Given the description of an element on the screen output the (x, y) to click on. 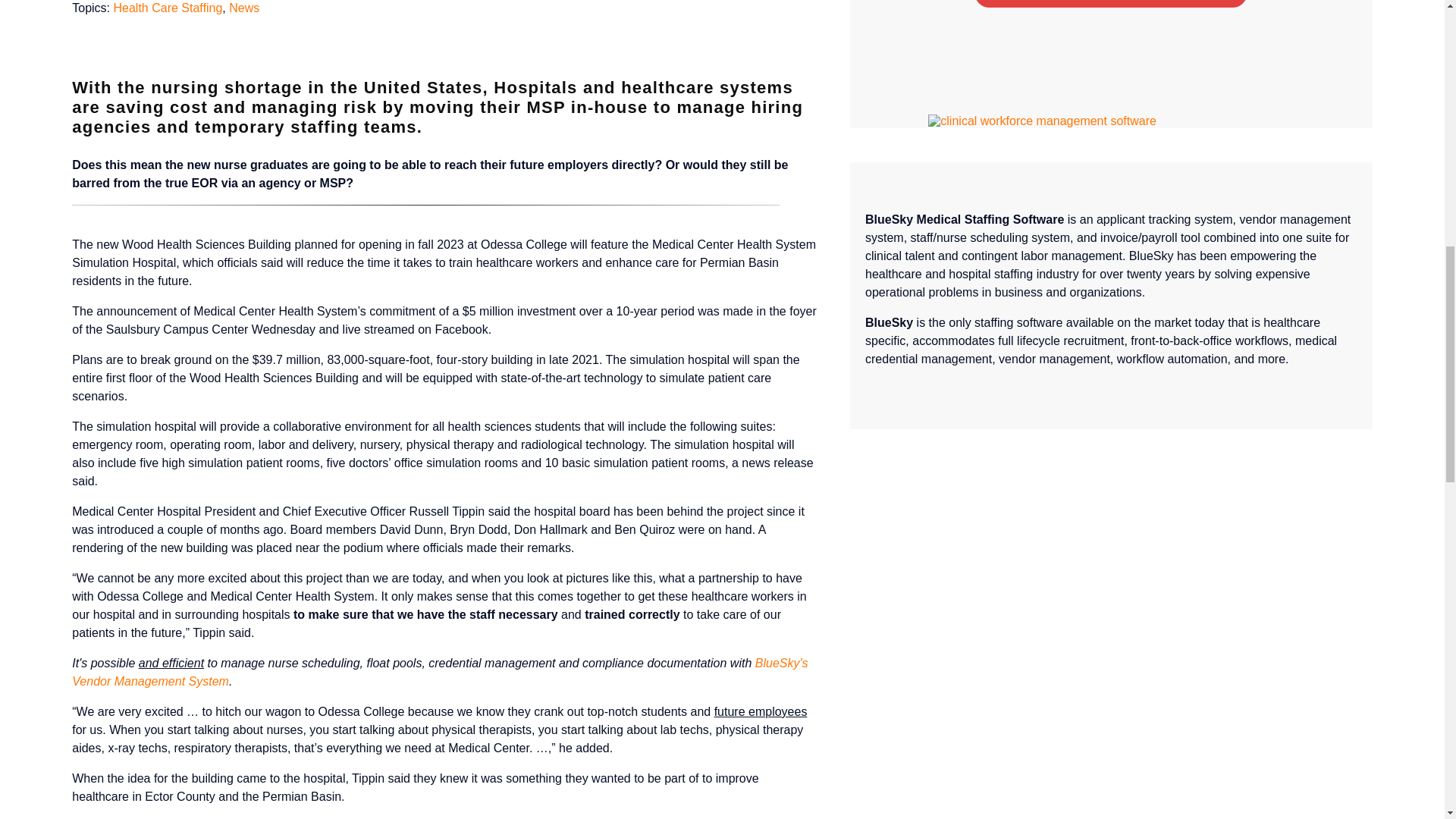
Health Care Staffing (167, 7)
News (243, 7)
SUBSCRIBE (1110, 3)
clinical workforce management software (1042, 120)
BlueSky's Vendor Management System (439, 671)
